Given the description of an element on the screen output the (x, y) to click on. 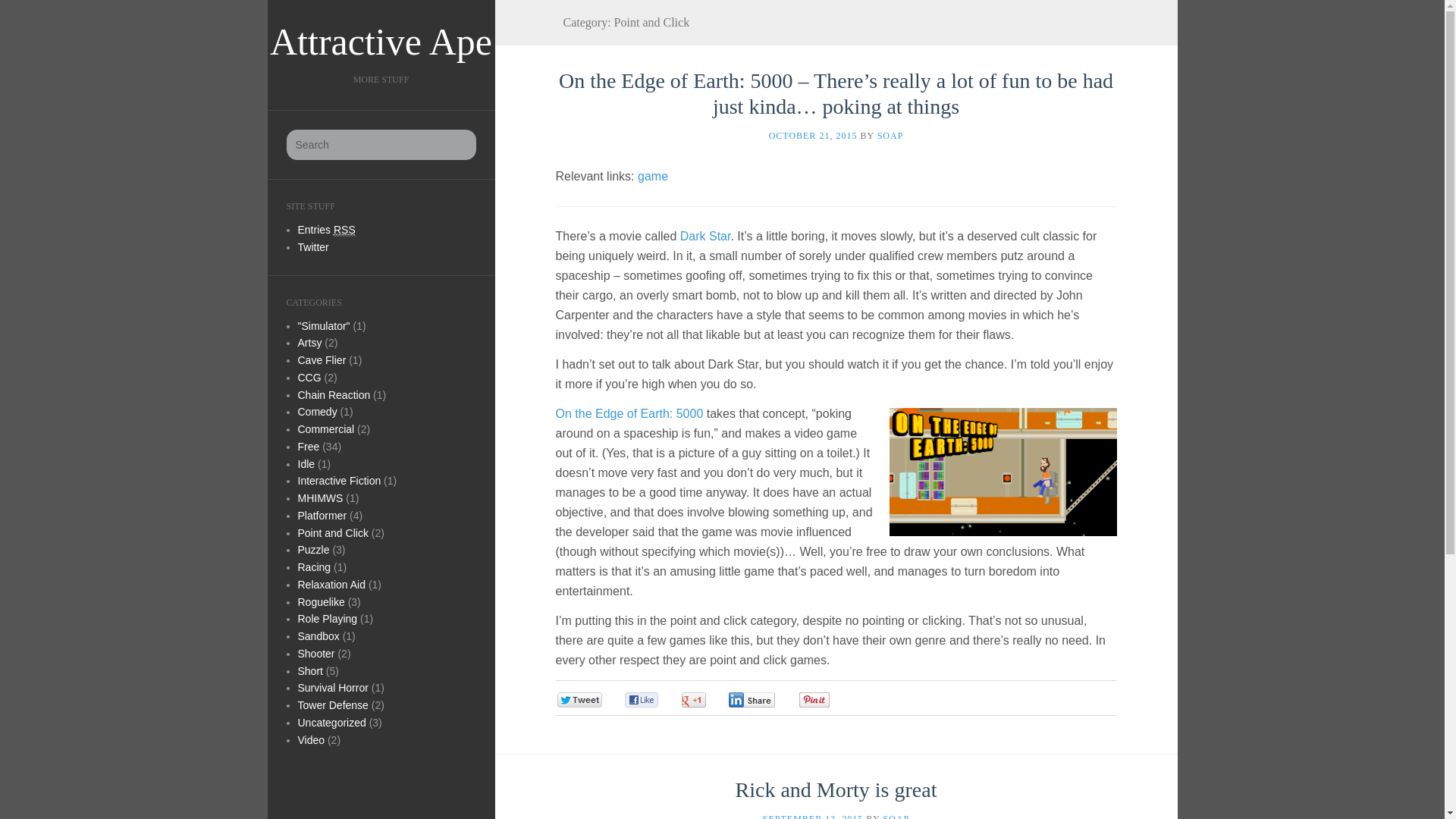
Short (309, 670)
Role Playing (326, 618)
Attractive Ape (380, 41)
CCG (308, 377)
OCTOBER 21, 2015 (812, 135)
Idle (305, 463)
Roguelike (320, 602)
Survival Horror (332, 687)
Platformer (321, 515)
Twitter (313, 246)
Tower Defense (332, 705)
Shooter (315, 653)
Cave Flier (321, 359)
Really Simple Syndication (344, 229)
Dark Star (704, 236)
